Given the description of an element on the screen output the (x, y) to click on. 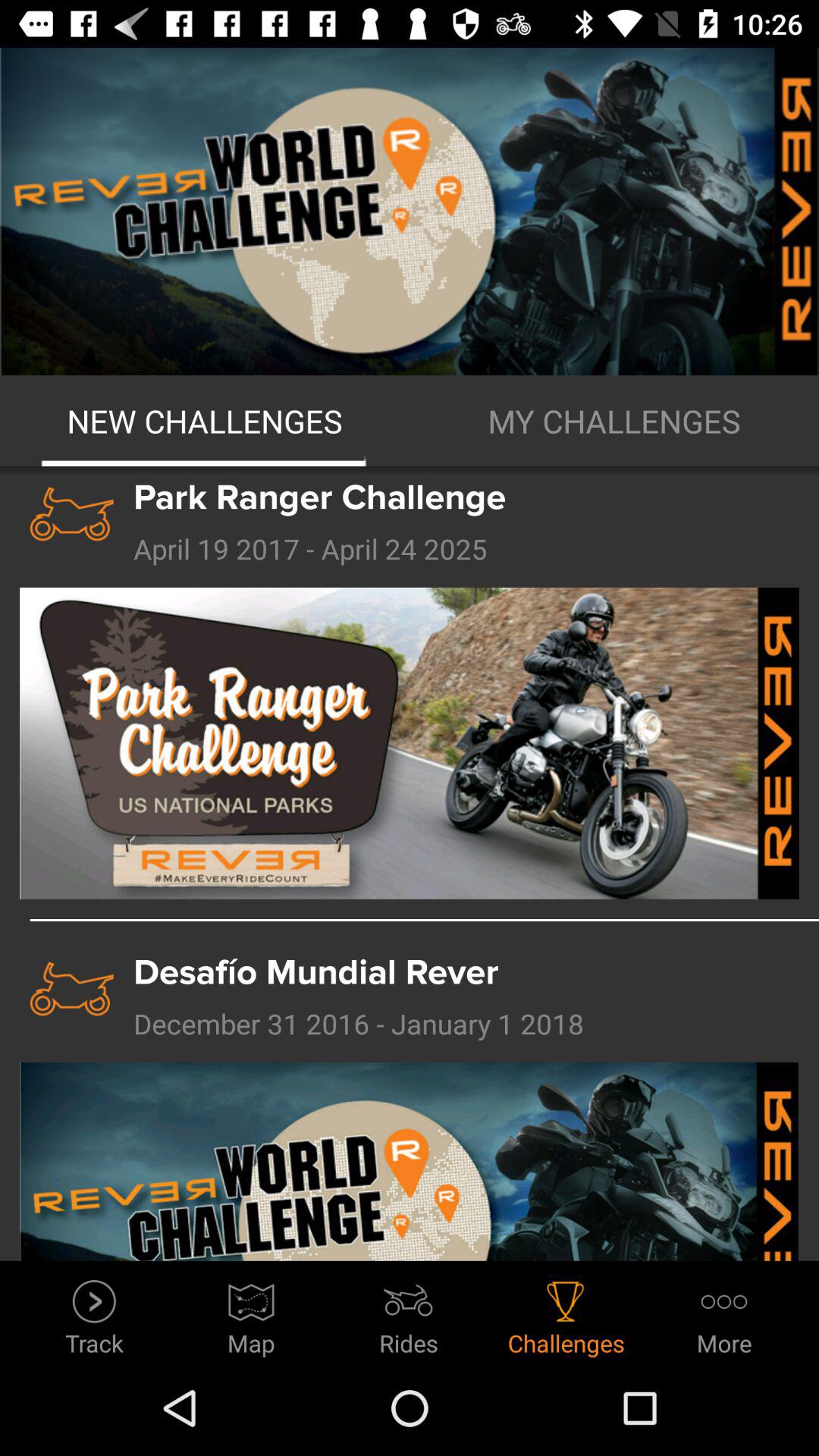
press icon to the left of rides item (251, 1313)
